Given the description of an element on the screen output the (x, y) to click on. 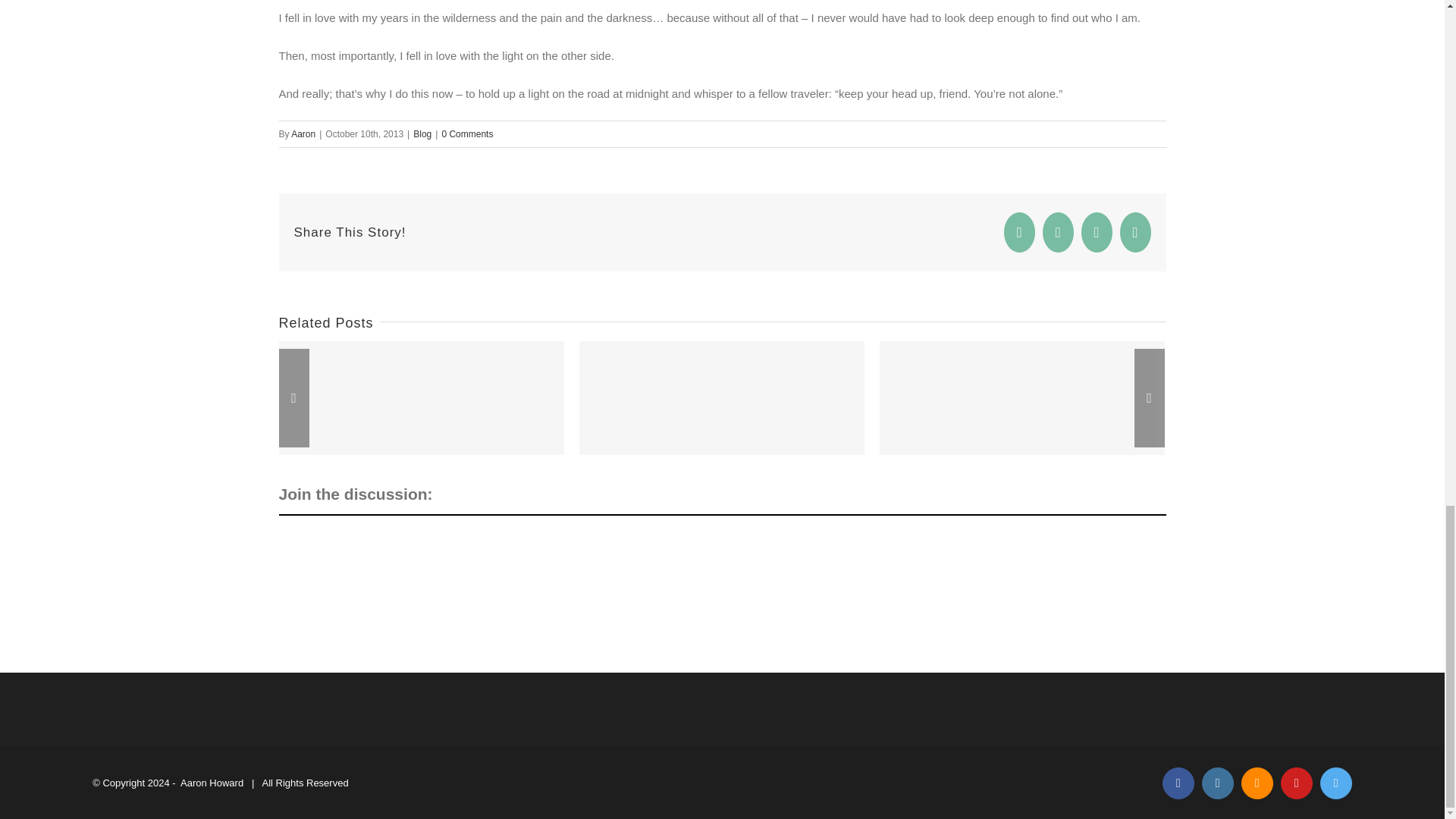
Blog (421, 133)
Aaron (303, 133)
Posts by Aaron (303, 133)
Facebook (1019, 232)
Reddit (1096, 232)
Twitter (1058, 232)
Email (1135, 232)
0 Comments (467, 133)
